Given the description of an element on the screen output the (x, y) to click on. 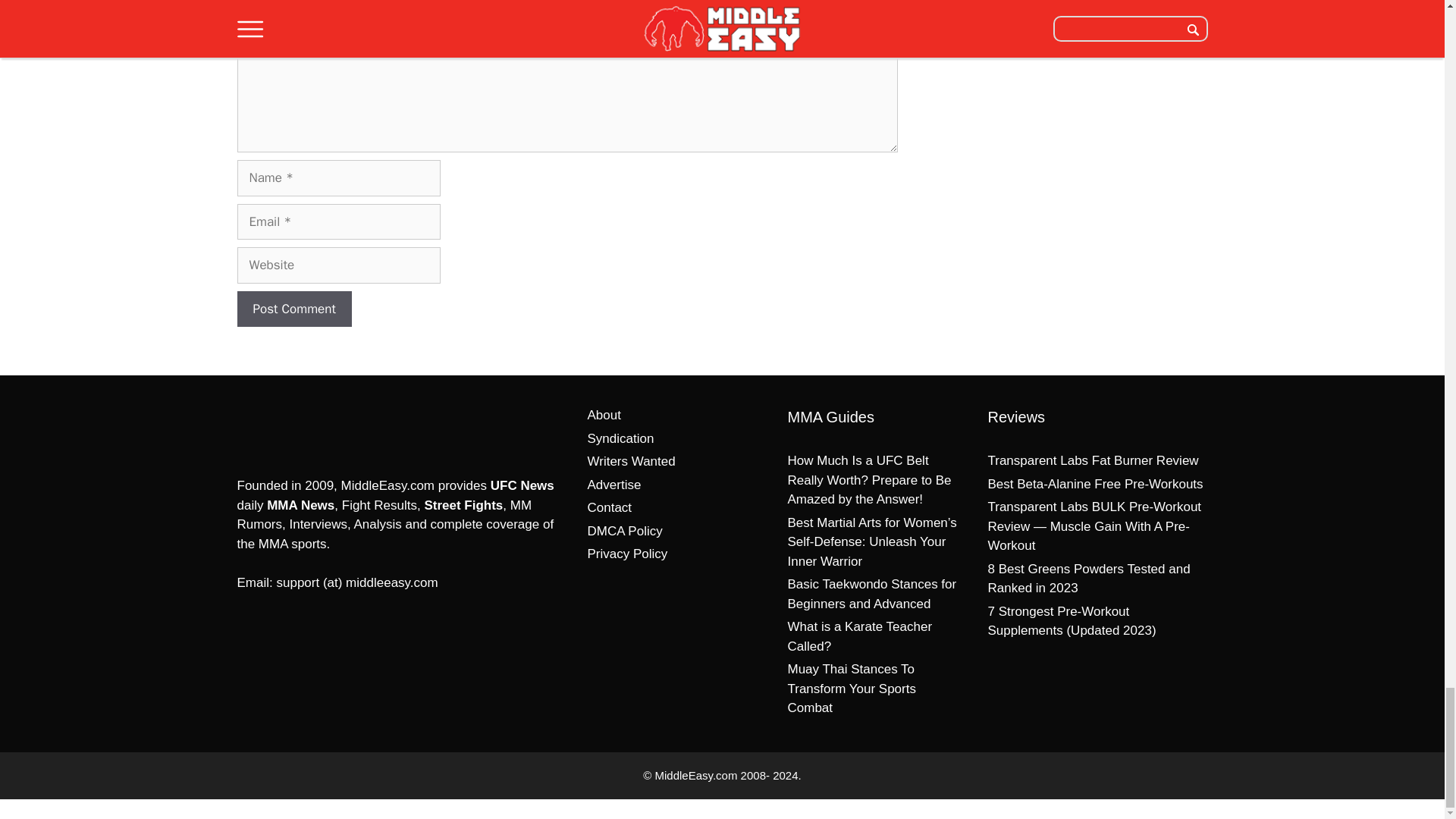
MiddlEeasy: MMA News (314, 428)
Post Comment (292, 309)
